Given the description of an element on the screen output the (x, y) to click on. 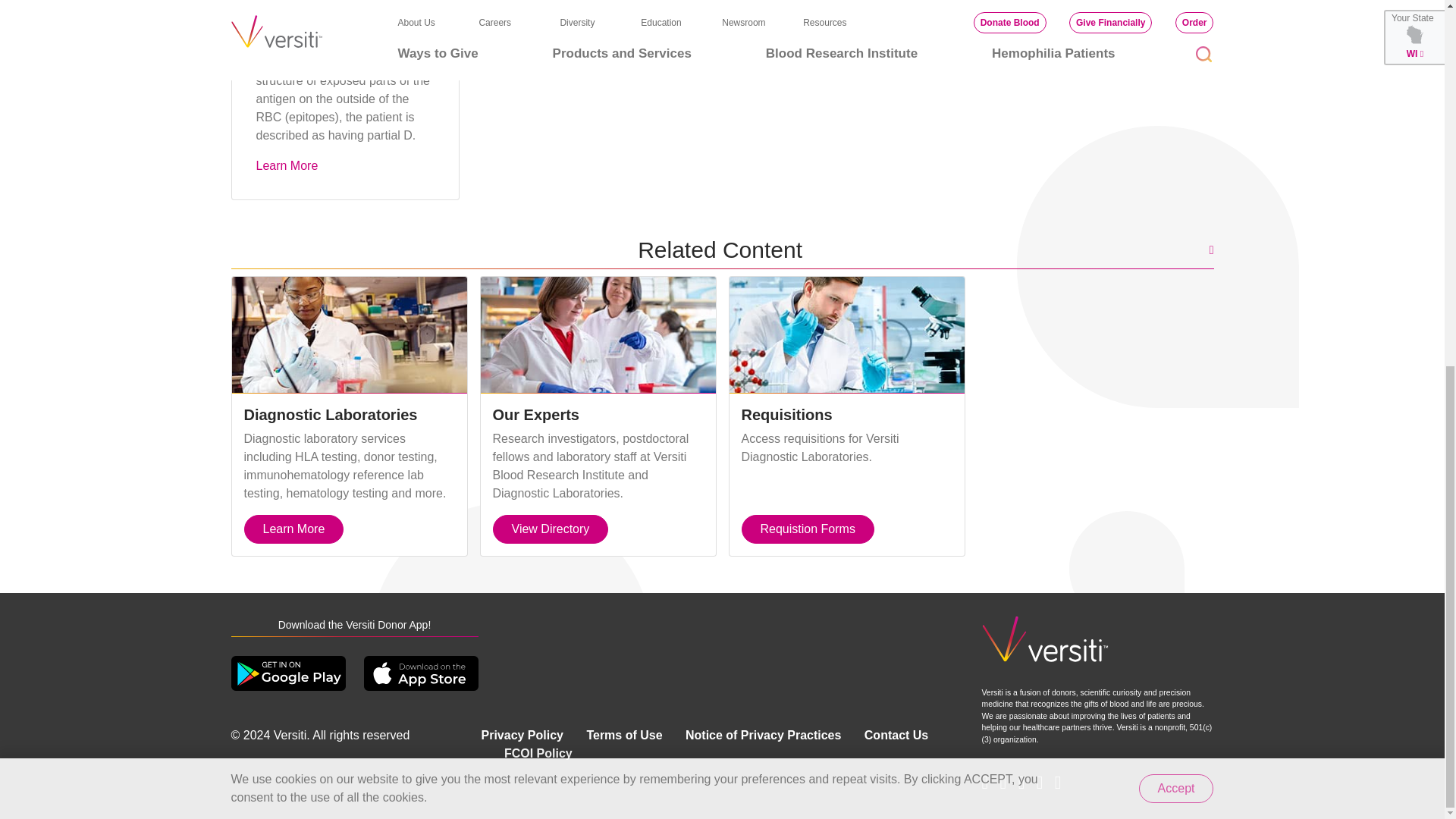
Requisitions (846, 334)
Our Experts (598, 334)
Diagnostic Laboratories (349, 334)
